Given the description of an element on the screen output the (x, y) to click on. 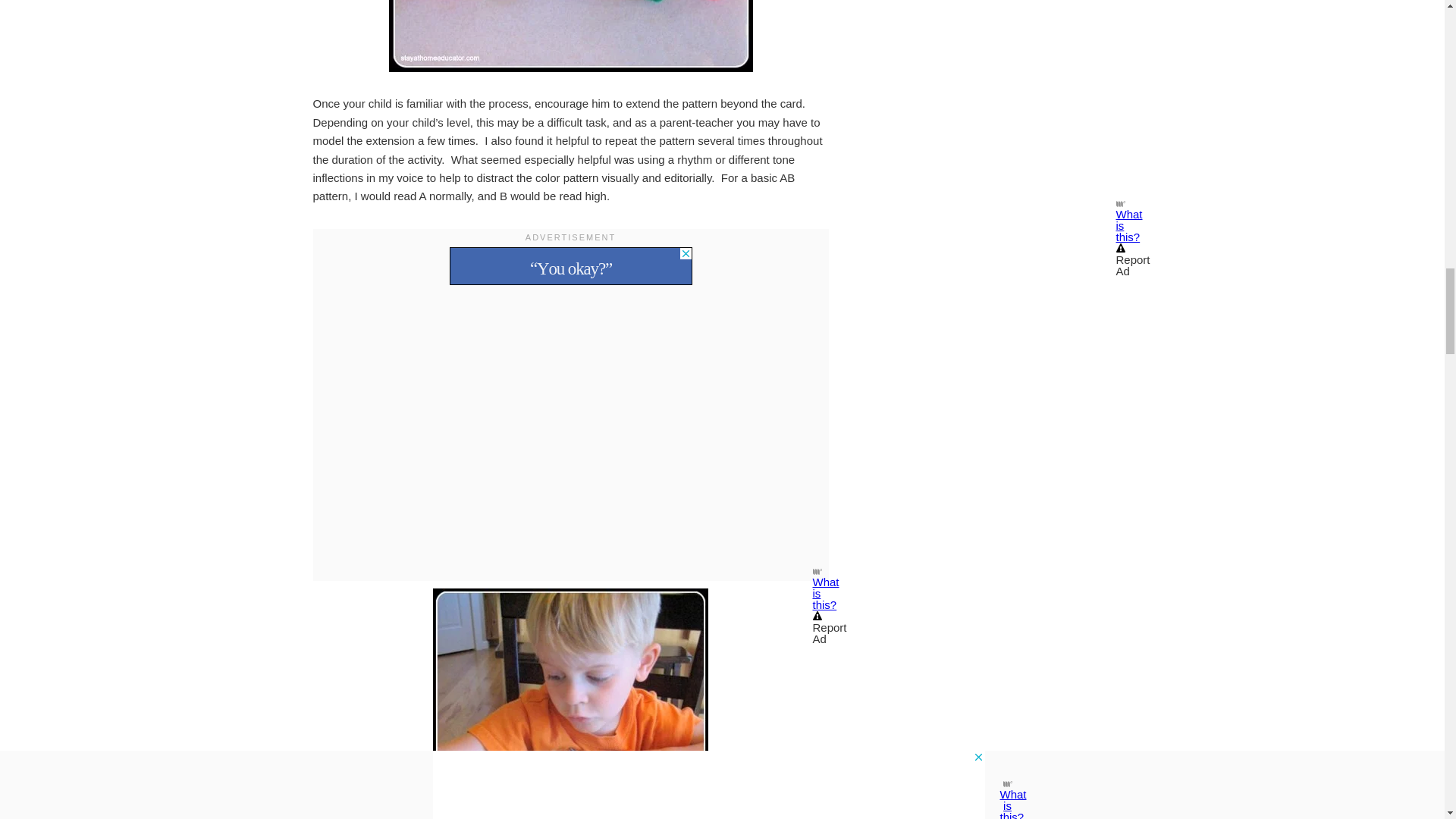
3rd party ad content (569, 266)
Pattern Cards.4 (569, 703)
Pattern Cards (570, 36)
